Given the description of an element on the screen output the (x, y) to click on. 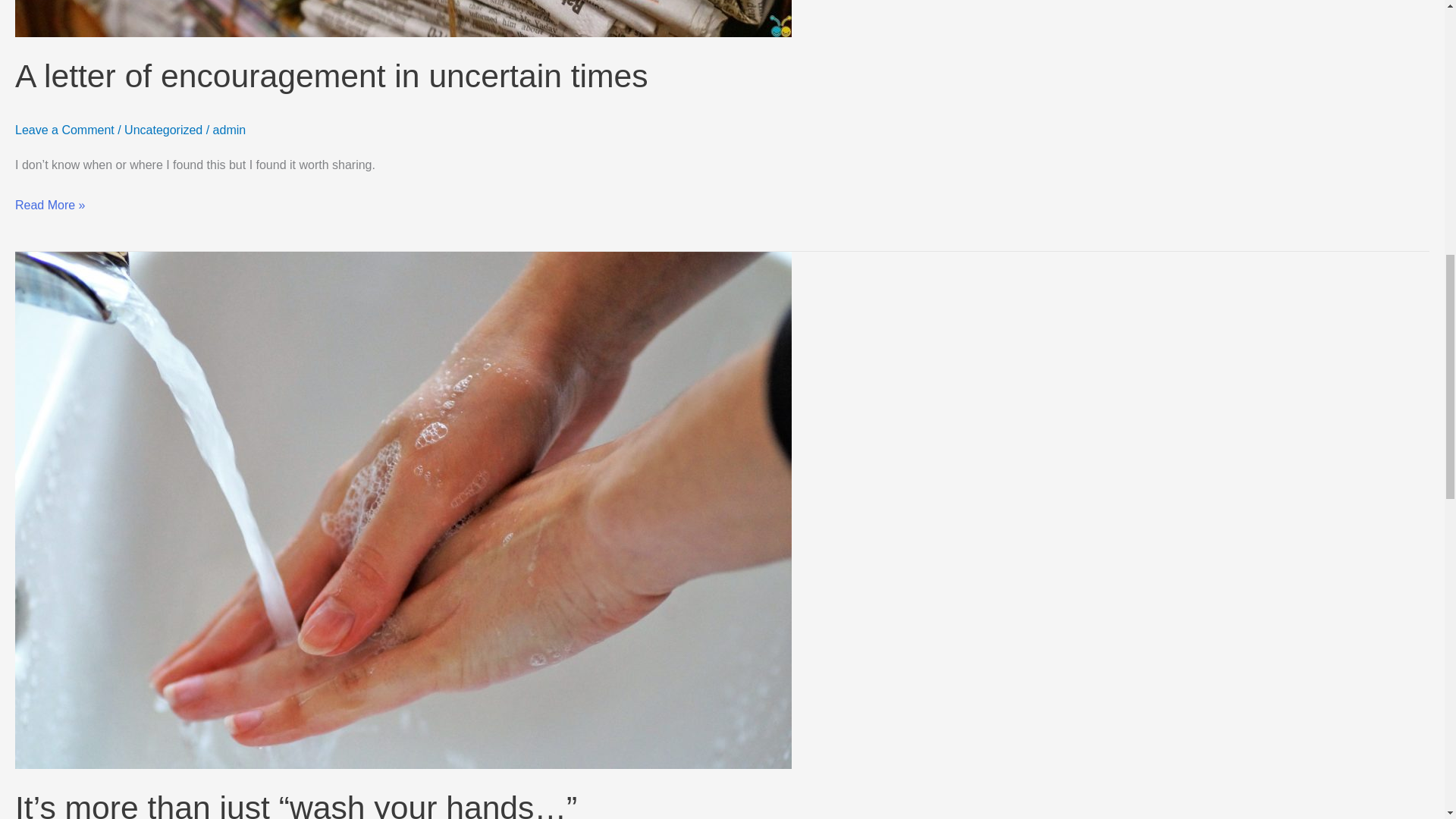
Leave a Comment (64, 129)
A letter of encouragement in uncertain times (330, 75)
admin (229, 129)
View all posts by admin (229, 129)
Uncategorized (162, 129)
